Given the description of an element on the screen output the (x, y) to click on. 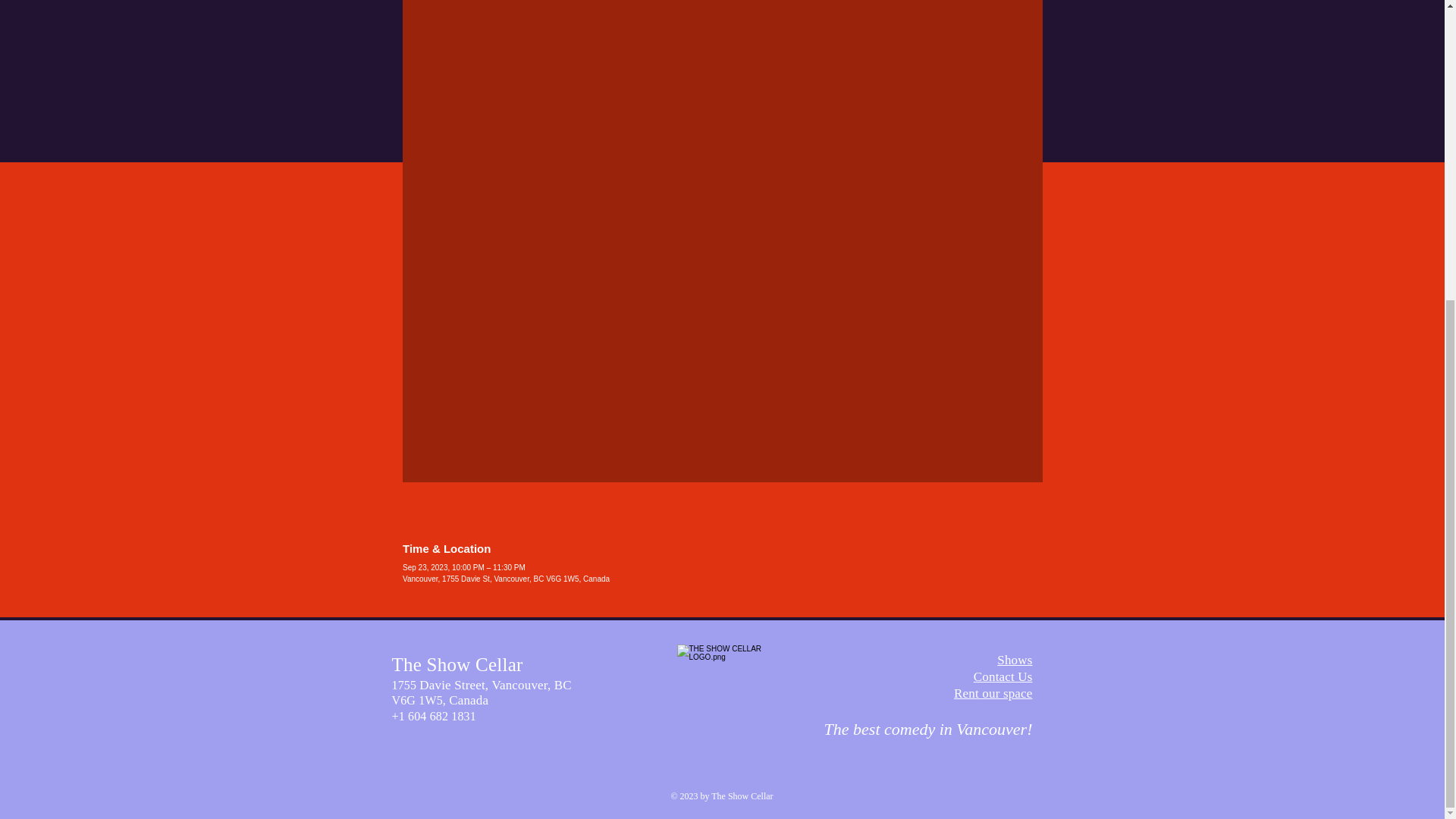
Rent our space (992, 693)
Contact Us (1003, 676)
Shows (1014, 659)
